Given the description of an element on the screen output the (x, y) to click on. 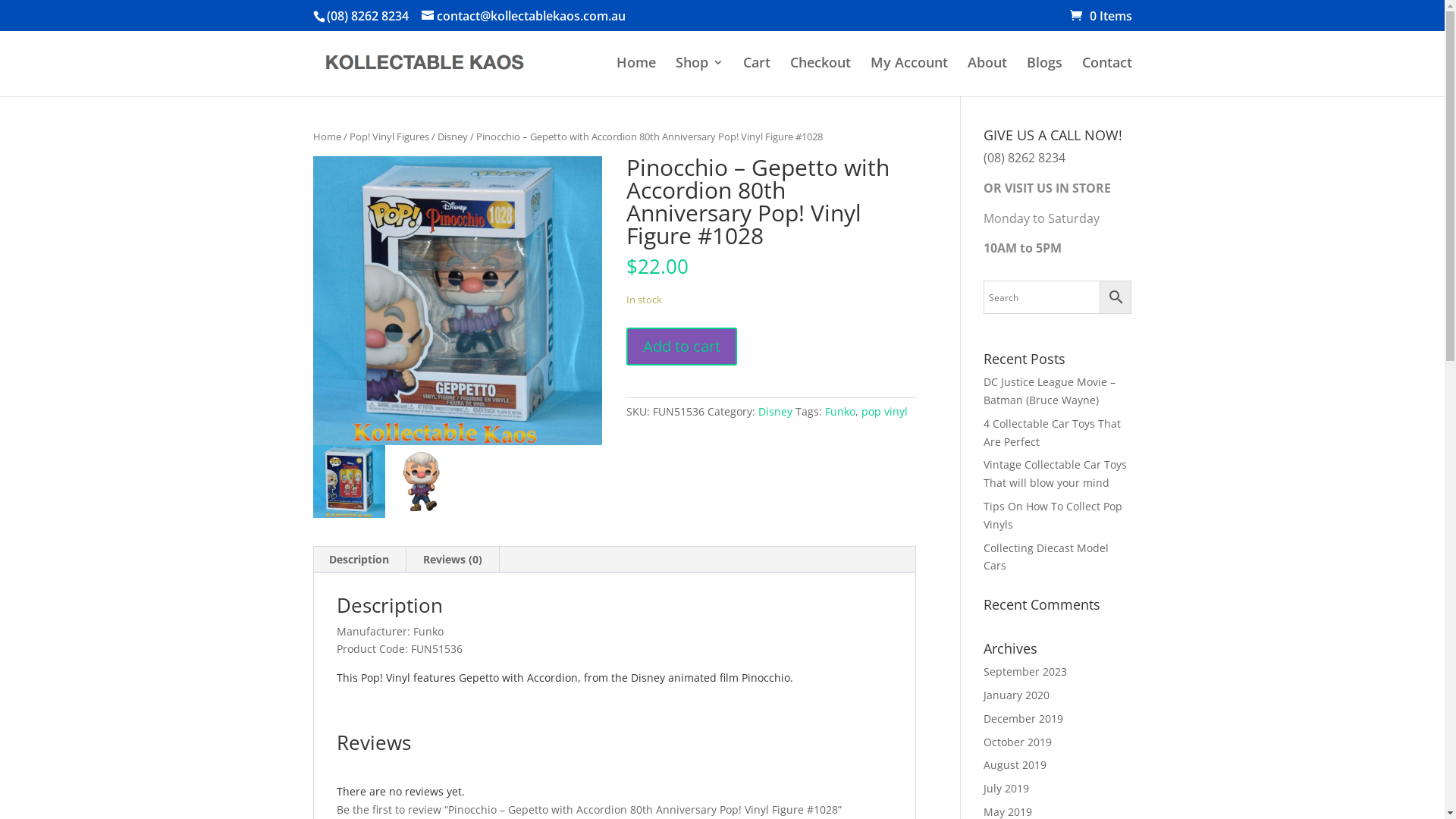
(08) 8262 8234 Element type: text (1024, 157)
Tips On How To Collect Pop Vinyls Element type: text (1052, 514)
Cart Element type: text (756, 74)
January 2020 Element type: text (1016, 694)
Vintage Collectable Car Toys That will blow your mind Element type: text (1054, 473)
Disney Element type: text (451, 136)
0 Items Element type: text (1100, 15)
Blogs Element type: text (1044, 74)
Disney Element type: text (775, 411)
Collecting Diecast Model Cars Element type: text (1045, 556)
Home Element type: text (635, 74)
Home Element type: text (326, 136)
Add to cart Element type: text (681, 346)
FUN51536-Pinocchio-Gepetto-Accordion-Pop-3 Element type: hover (421, 481)
FUN51536-Pinocchio-Gepetto-Accordion-Pop-1 Element type: hover (457, 300)
August 2019 Element type: text (1014, 764)
Checkout Element type: text (820, 74)
contact@kollectablekaos.com.au Element type: text (523, 15)
Pop! Vinyl Figures Element type: text (388, 136)
Funko Element type: text (840, 411)
pop vinyl Element type: text (884, 411)
July 2019 Element type: text (1006, 788)
(08) 8262 8234 Element type: text (366, 15)
October 2019 Element type: text (1017, 741)
September 2023 Element type: text (1024, 671)
Description Element type: text (358, 559)
Contact Element type: text (1106, 74)
Reviews (0) Element type: text (452, 559)
FUN51536-Pinocchio-Gepetto-Accordion-Pop-2 Element type: hover (348, 481)
December 2019 Element type: text (1023, 718)
My Account Element type: text (908, 74)
Shop Element type: text (698, 74)
4 Collectable Car Toys That Are Perfect Element type: text (1051, 432)
About Element type: text (987, 74)
